Given the description of an element on the screen output the (x, y) to click on. 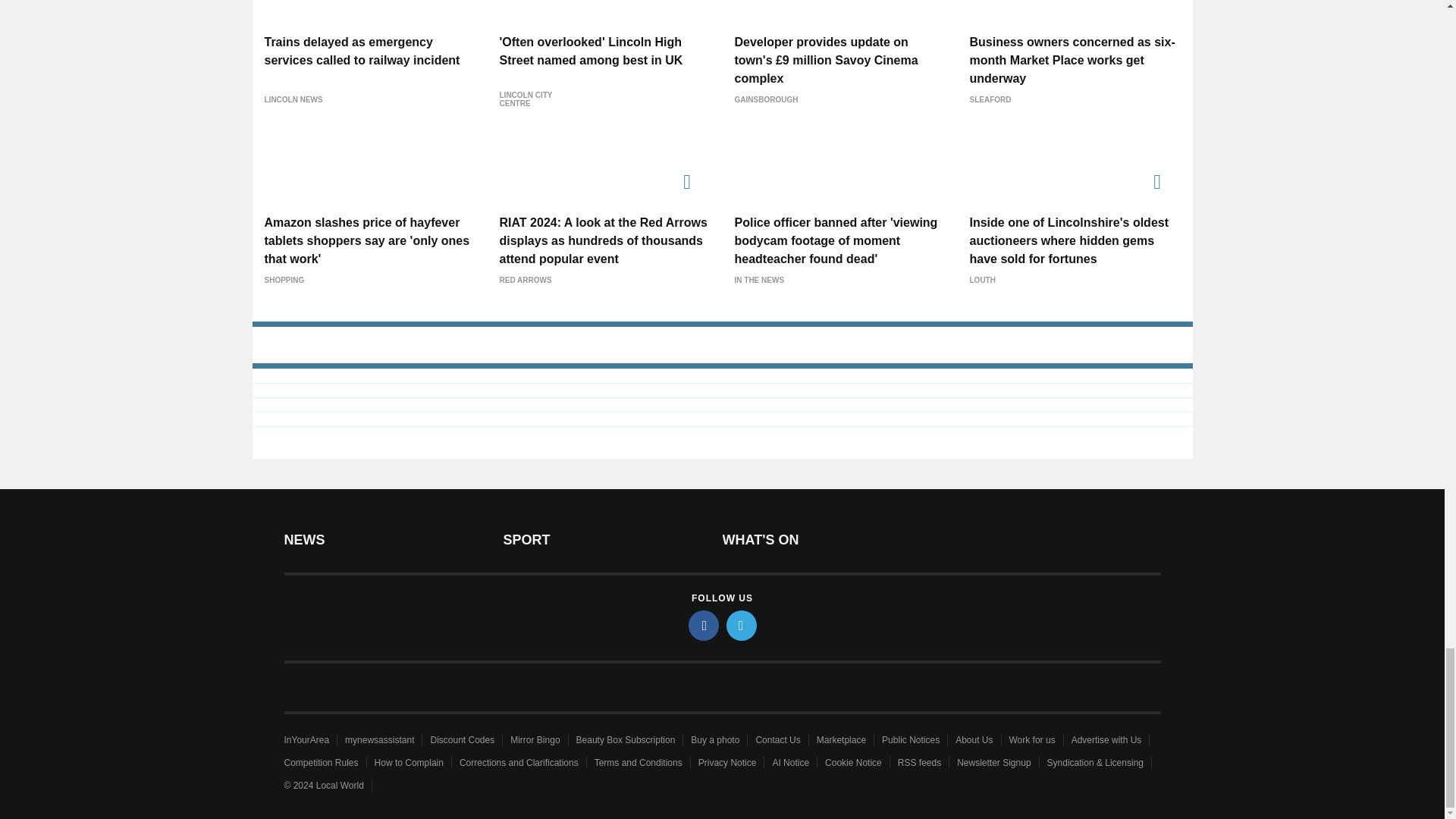
facebook (703, 625)
twitter (741, 625)
